Given the description of an element on the screen output the (x, y) to click on. 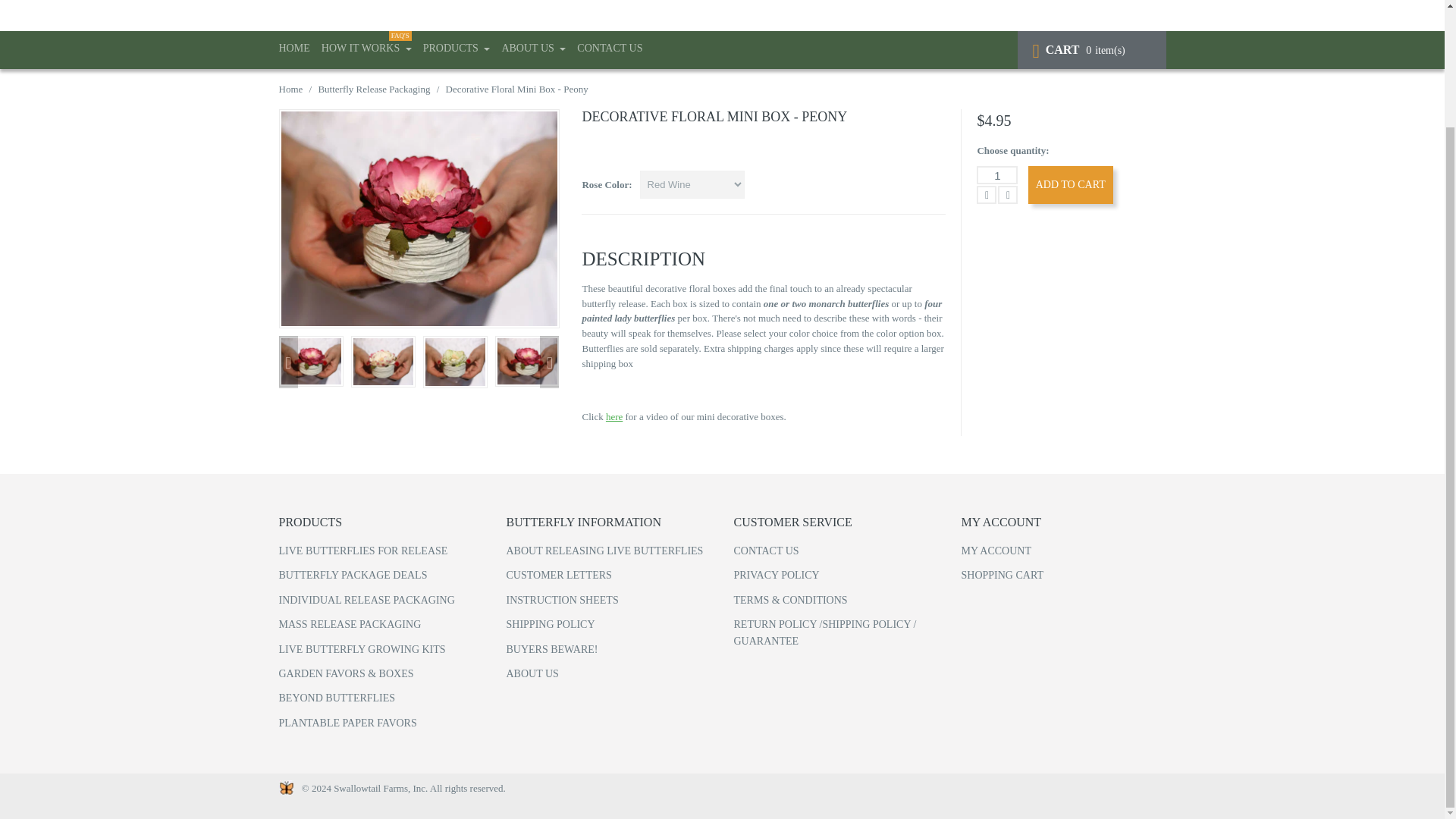
1 (996, 175)
ABOUT US (533, 49)
PRODUCTS (456, 49)
Back to the frontpage (290, 89)
Butterfly Release Packaging (373, 89)
Home (290, 89)
Butterfly Release Packaging (373, 89)
CONTACT US (609, 49)
HOME (294, 49)
Mini decorative boxes for live butterflies  (366, 49)
